Given the description of an element on the screen output the (x, y) to click on. 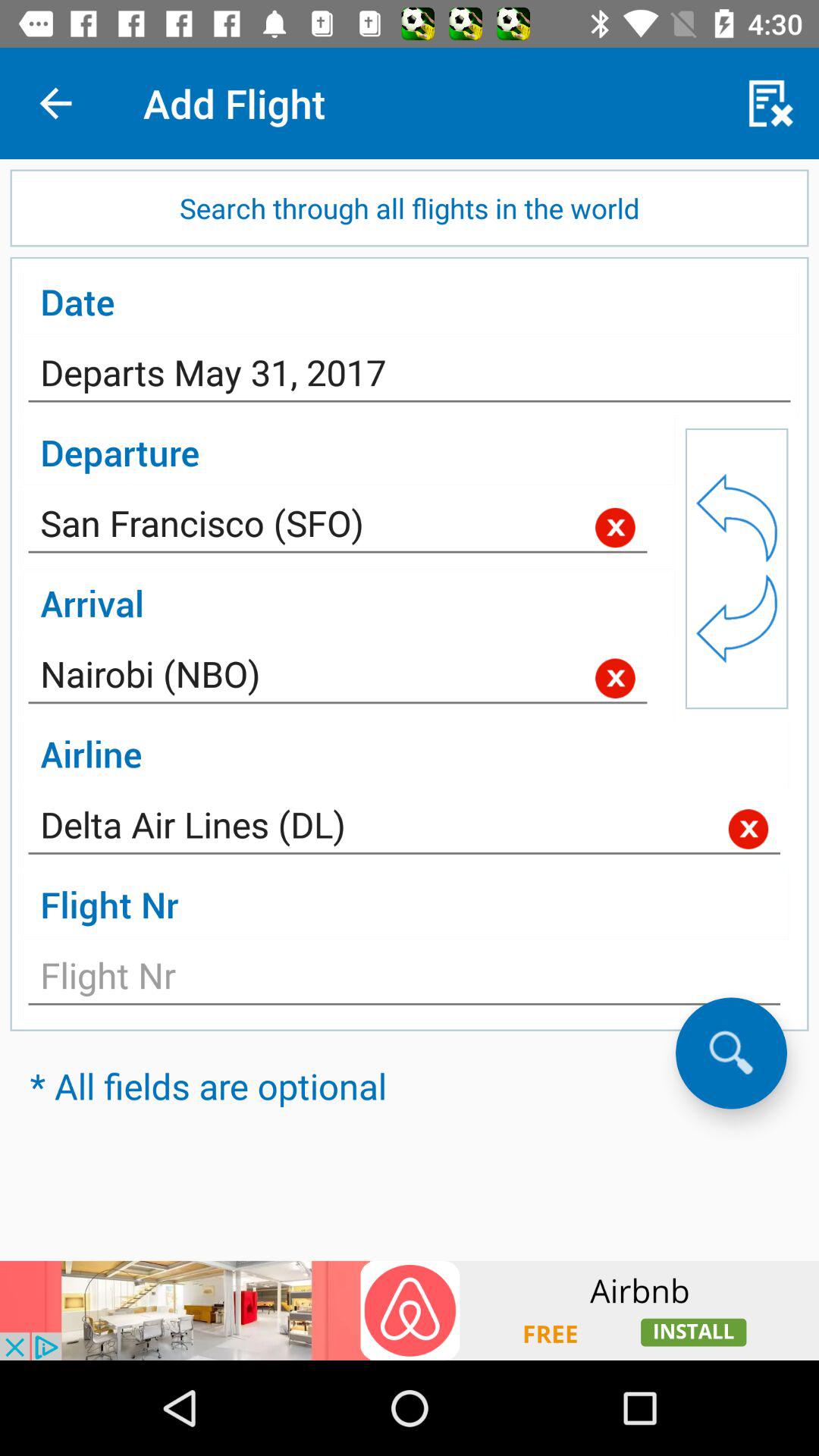
install an app (409, 1310)
